Given the description of an element on the screen output the (x, y) to click on. 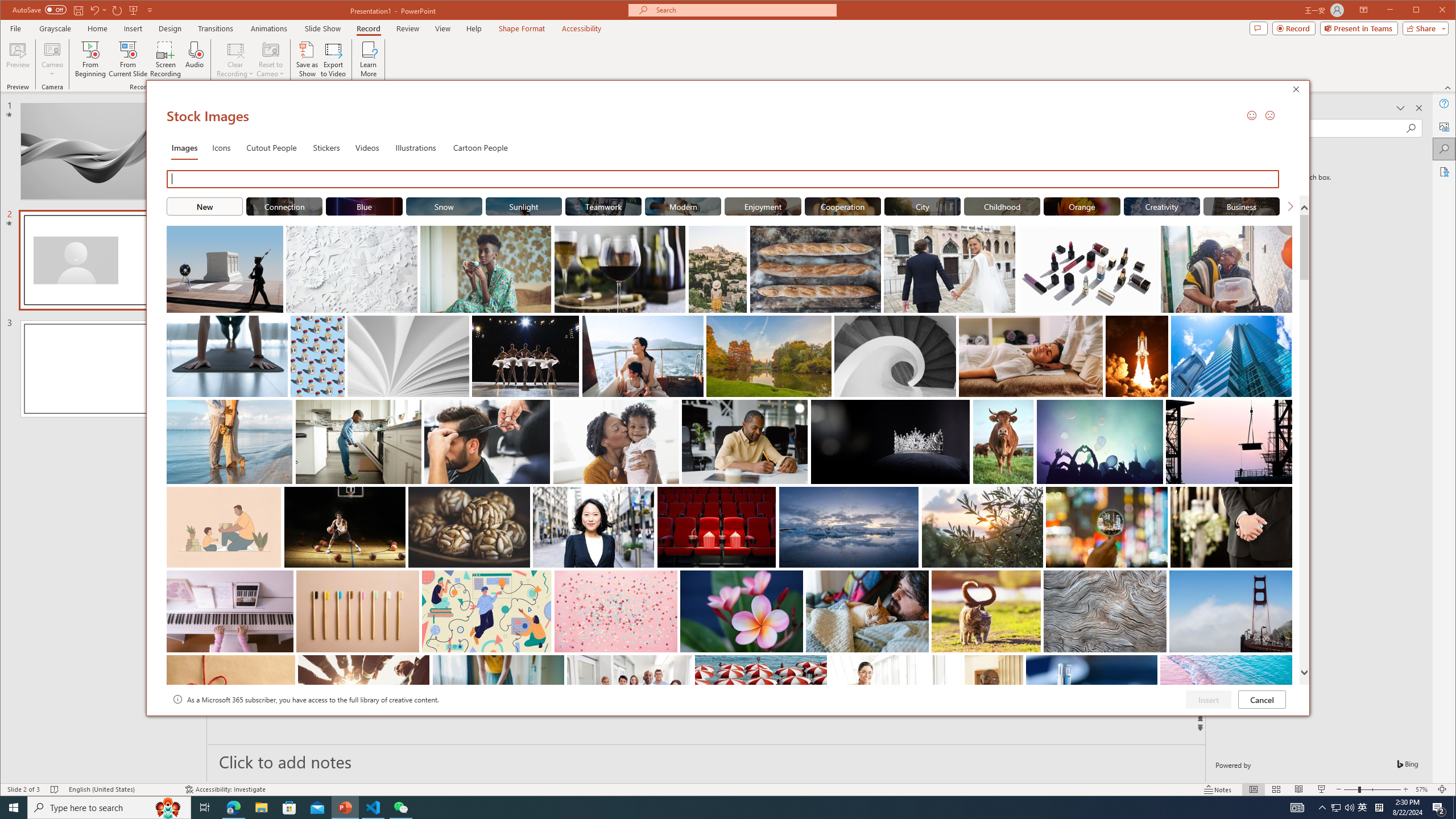
Images (183, 147)
From Current Slide... (127, 59)
Reset to Cameo (269, 59)
WeChat - 1 running window (400, 807)
From Beginning... (90, 59)
